Given the description of an element on the screen output the (x, y) to click on. 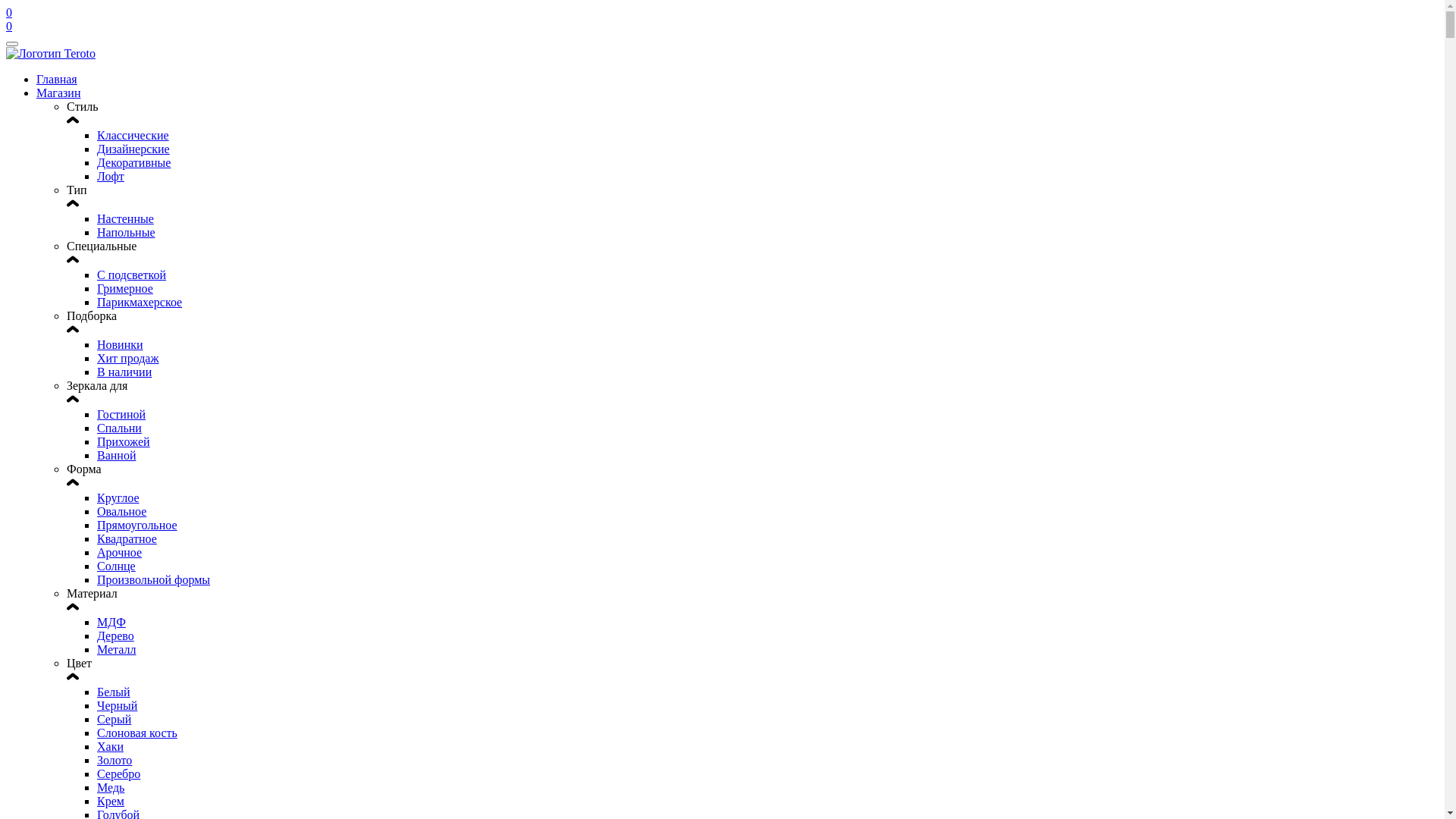
0 Element type: text (9, 25)
0 Element type: text (722, 19)
